Given the description of an element on the screen output the (x, y) to click on. 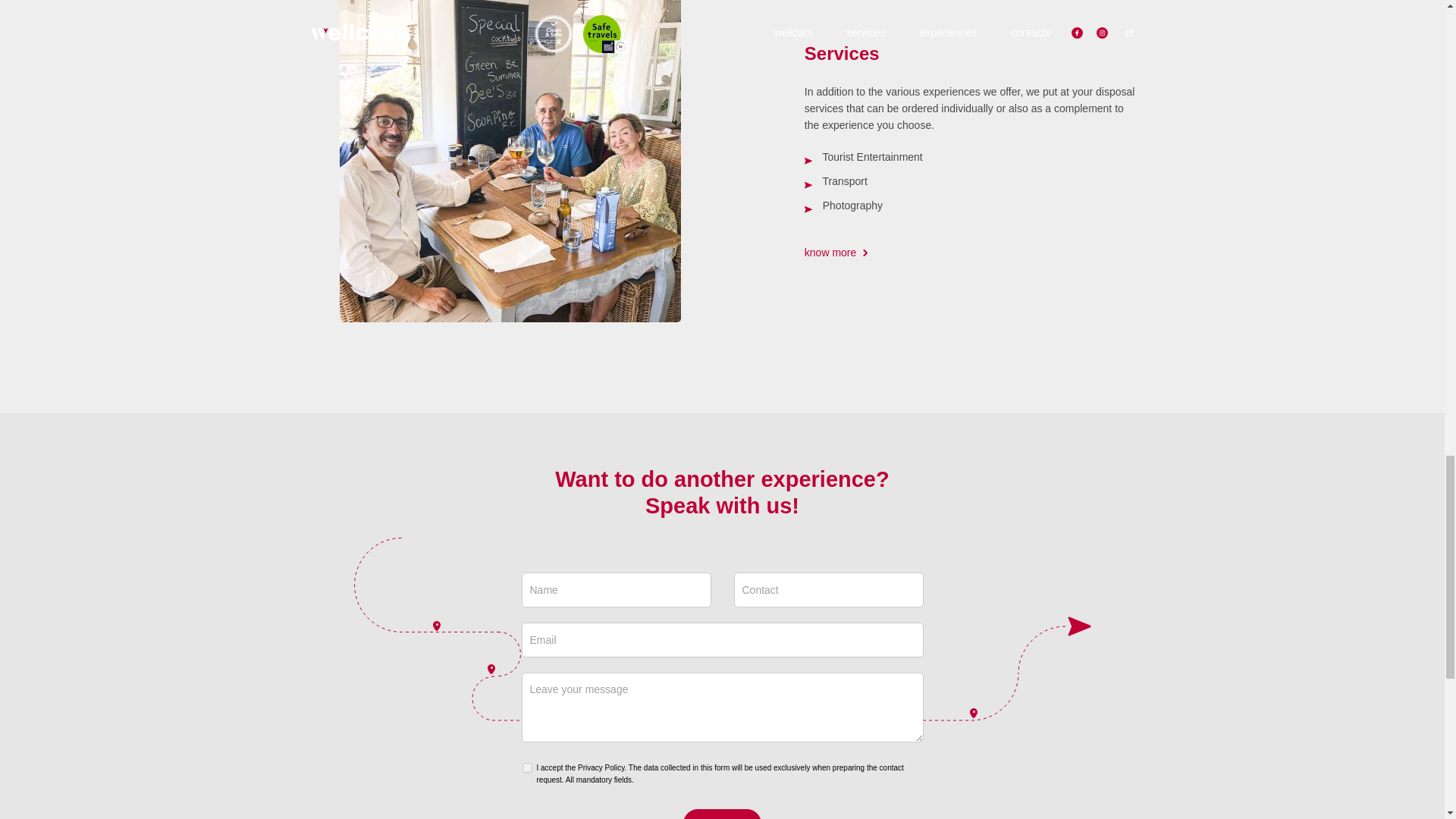
know more (836, 250)
Submit (721, 814)
Submit (721, 814)
1 (526, 767)
